Given the description of an element on the screen output the (x, y) to click on. 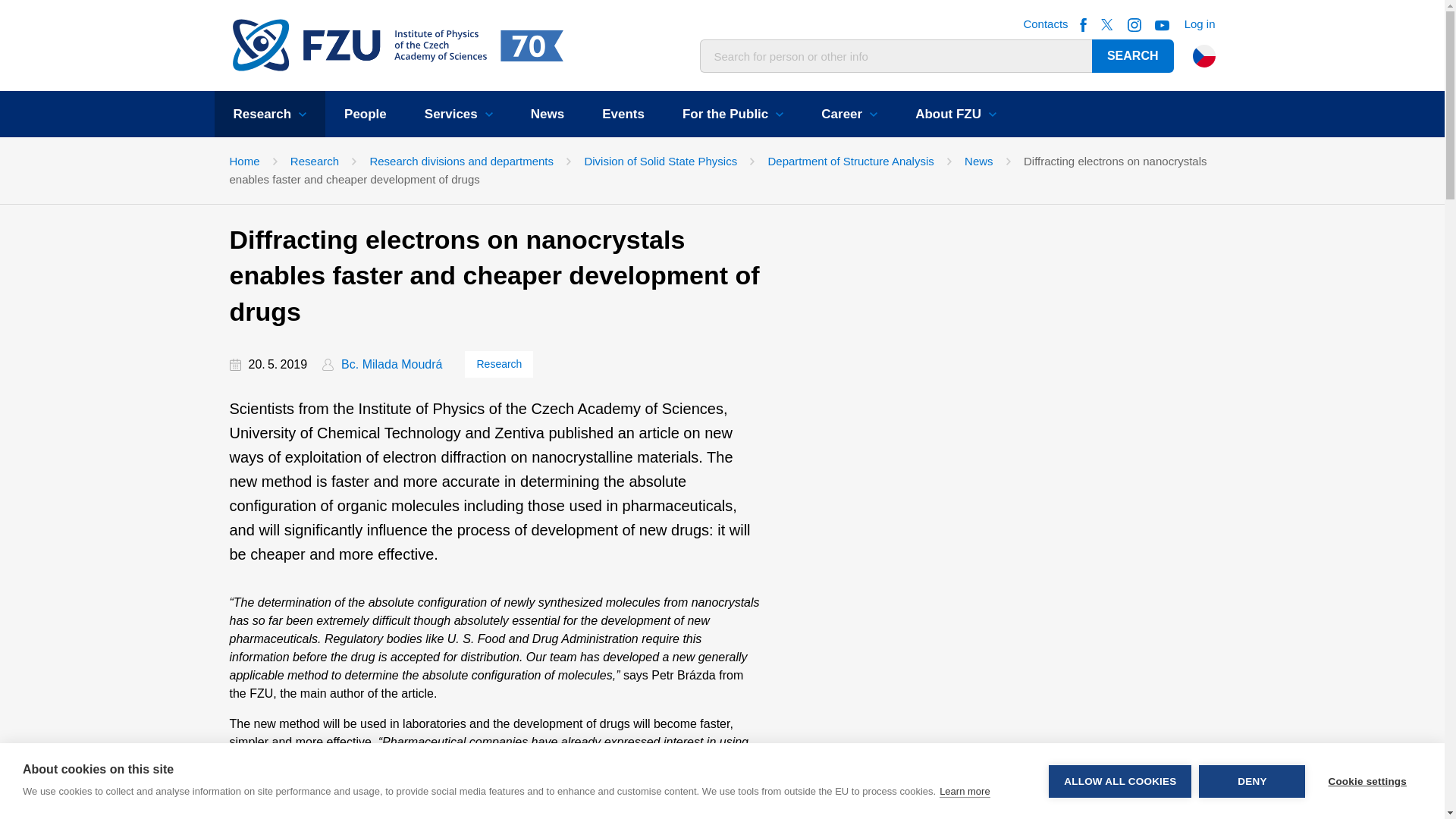
Home (359, 45)
Search (1132, 55)
People (365, 113)
We are celebrating 70 years (526, 45)
Contacts (1045, 24)
For the Public (732, 113)
Log in (1200, 23)
Twitter (1106, 24)
Youtube (1161, 24)
Instagram (1133, 24)
Services (459, 113)
Research (269, 113)
News (547, 113)
Search (1132, 55)
